Given the description of an element on the screen output the (x, y) to click on. 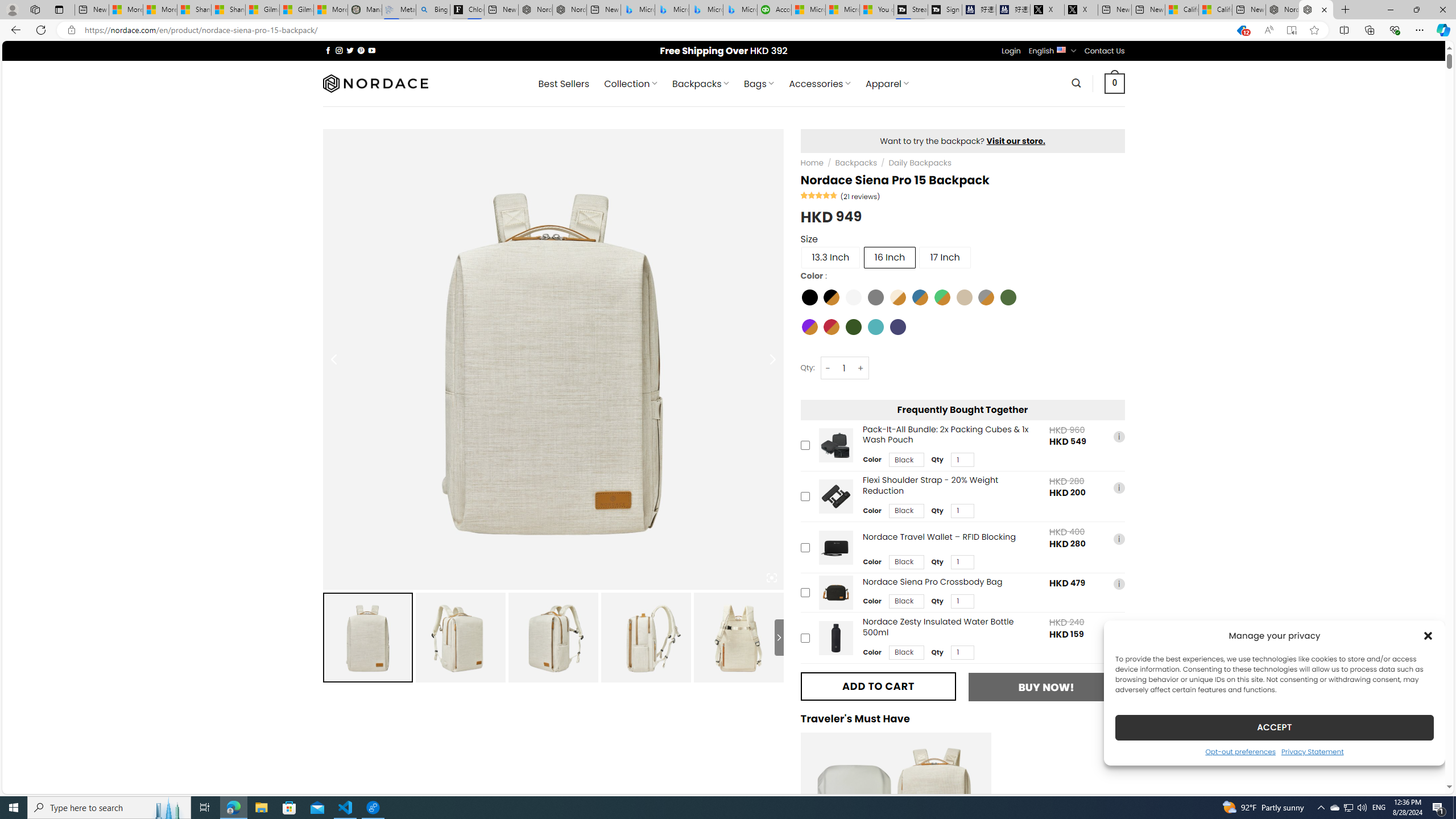
Backpacks (855, 162)
Daily Backpacks (920, 162)
